Given the description of an element on the screen output the (x, y) to click on. 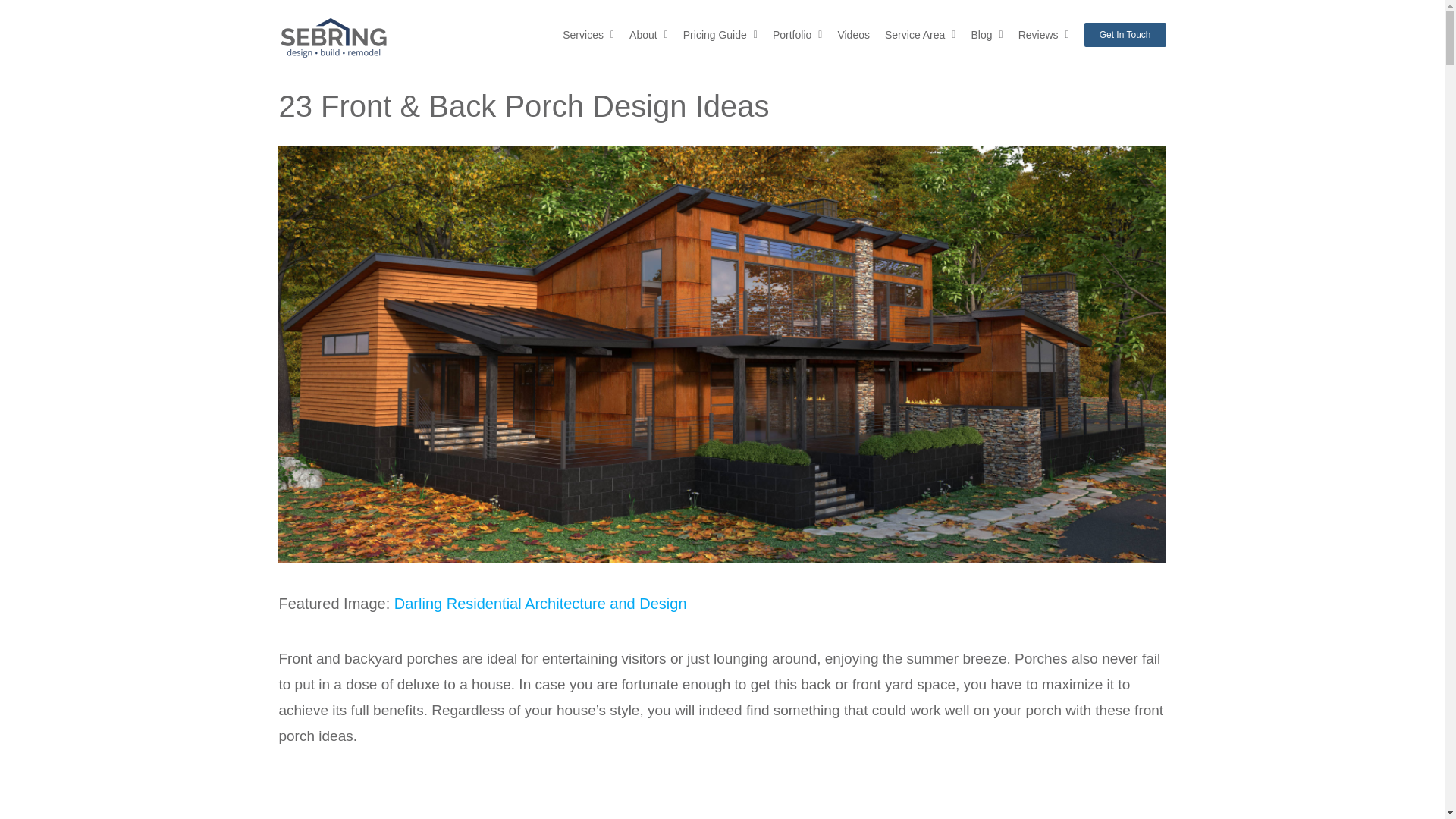
Videos (853, 33)
About (648, 33)
Portfolio (797, 33)
Service Area (920, 33)
Services (588, 33)
Pricing Guide (719, 33)
